Given the description of an element on the screen output the (x, y) to click on. 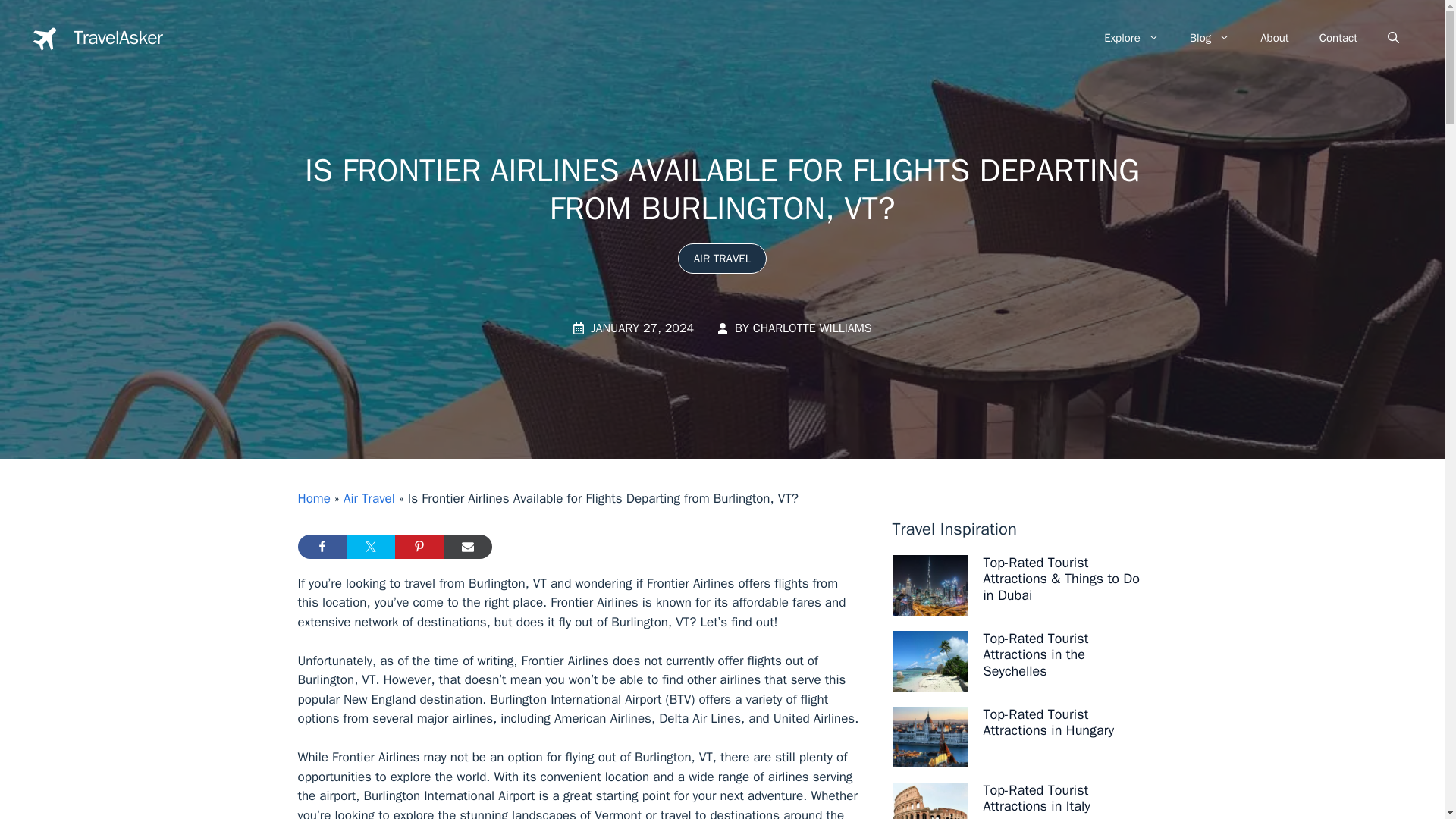
Blog (1209, 37)
About (1273, 37)
CHARLOTTE WILLIAMS (812, 328)
Share on Twitter (370, 546)
Explore (1131, 37)
Share on Pinterest (418, 546)
Contact (1338, 37)
TravelAsker (117, 37)
Share via Email (467, 546)
Share on Facebook (321, 546)
